Given the description of an element on the screen output the (x, y) to click on. 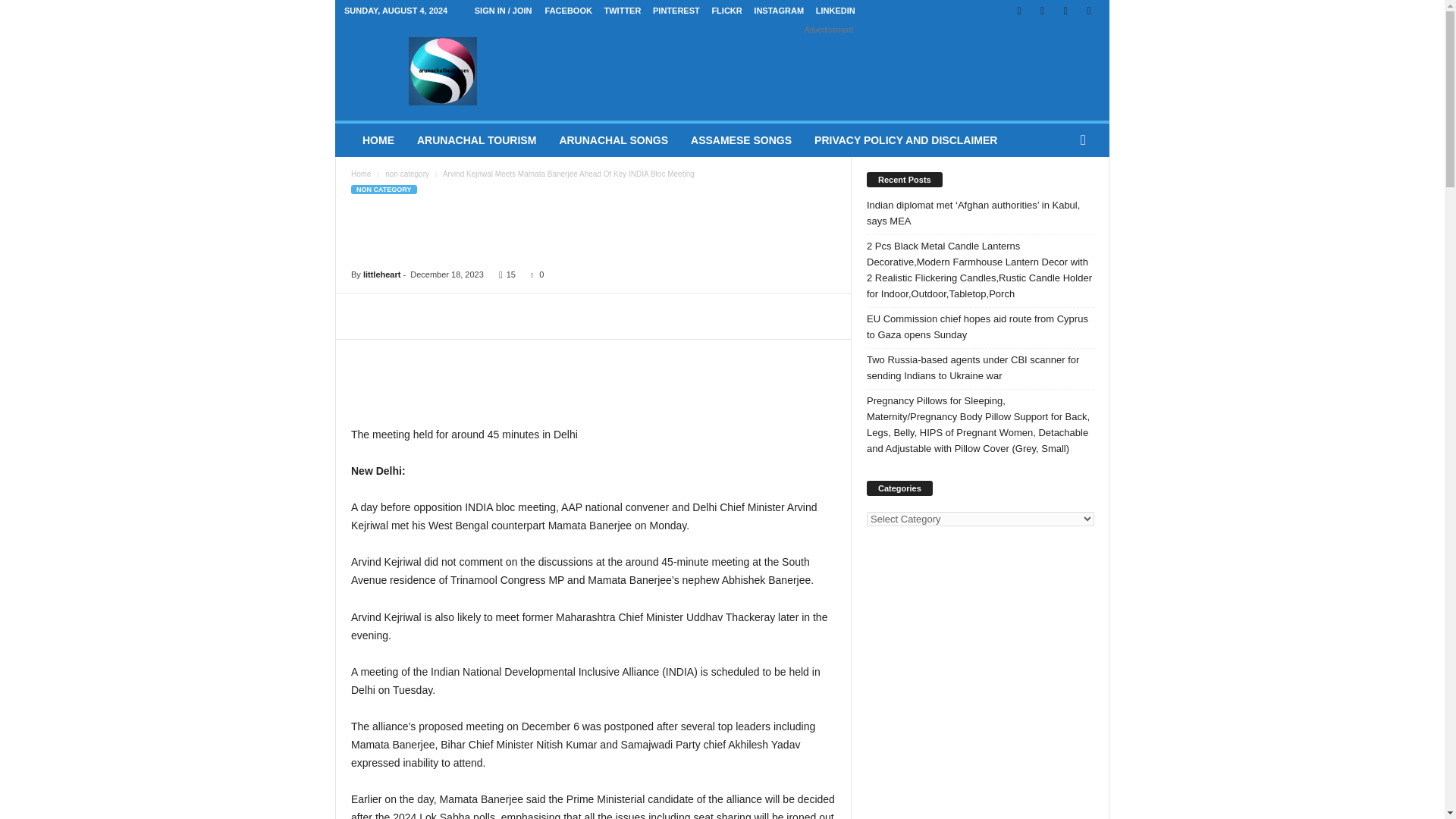
INSTAGRAM (778, 10)
ASSAMESE SONGS (741, 140)
amazing news (443, 70)
View all posts in non category (407, 173)
ARUNACHAL SONGS (613, 140)
LINKEDIN (835, 10)
arunachalbuzz (442, 70)
FACEBOOK (568, 10)
FLICKR (726, 10)
PINTEREST (676, 10)
TWITTER (623, 10)
NON CATEGORY (383, 189)
HOME (378, 140)
Home (360, 173)
non category (407, 173)
